Given the description of an element on the screen output the (x, y) to click on. 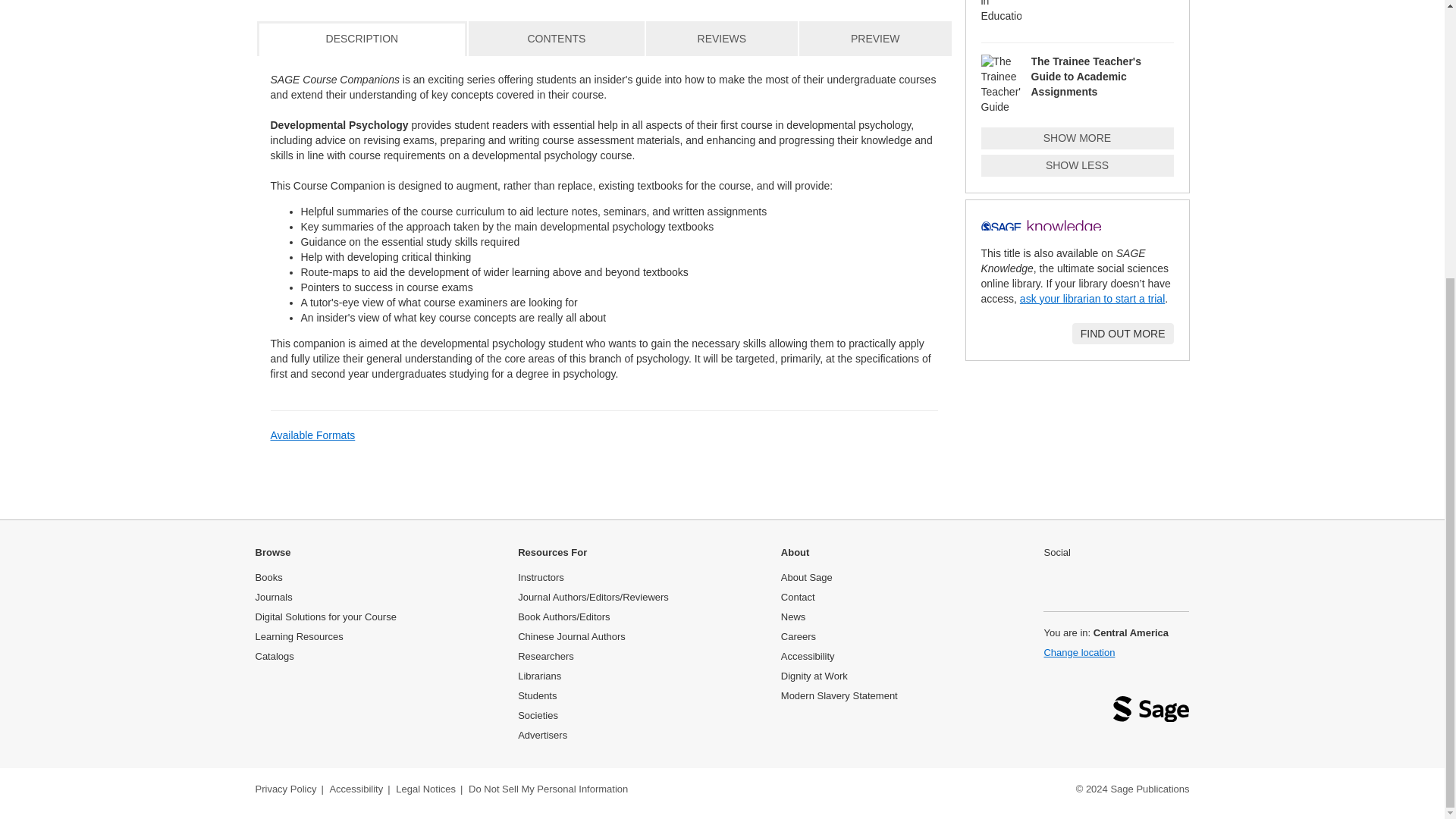
Catalogs (274, 655)
Sage logo: link back to homepage (1151, 712)
